Given the description of an element on the screen output the (x, y) to click on. 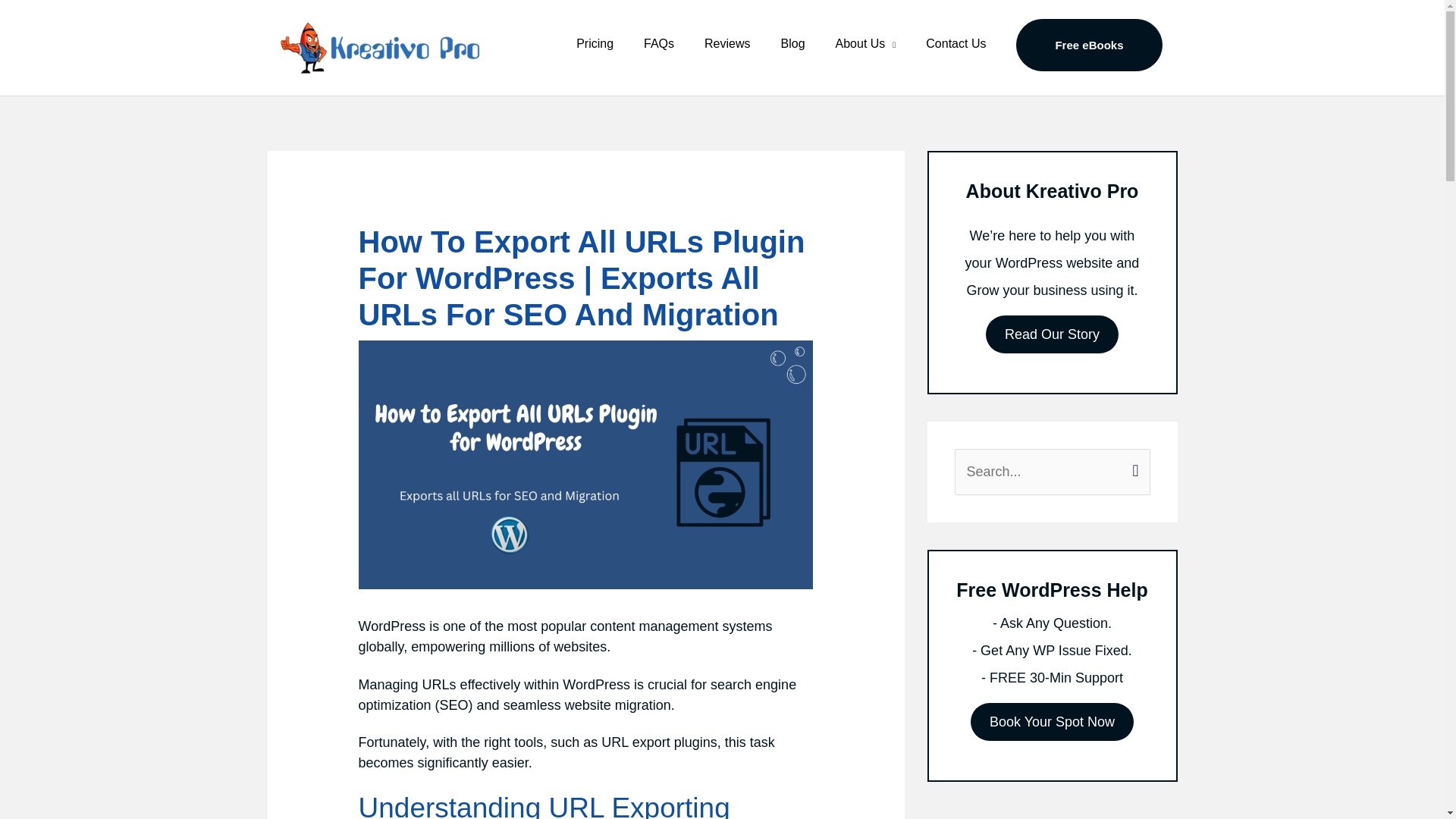
FAQs (658, 43)
About Us (866, 43)
Read Our Story (1051, 333)
Blog (793, 43)
Free eBooks (1088, 44)
Free eBooks (1088, 44)
Book Your Spot Now (1052, 721)
Pricing (594, 43)
Reviews (726, 43)
Contact Us (956, 43)
